Given the description of an element on the screen output the (x, y) to click on. 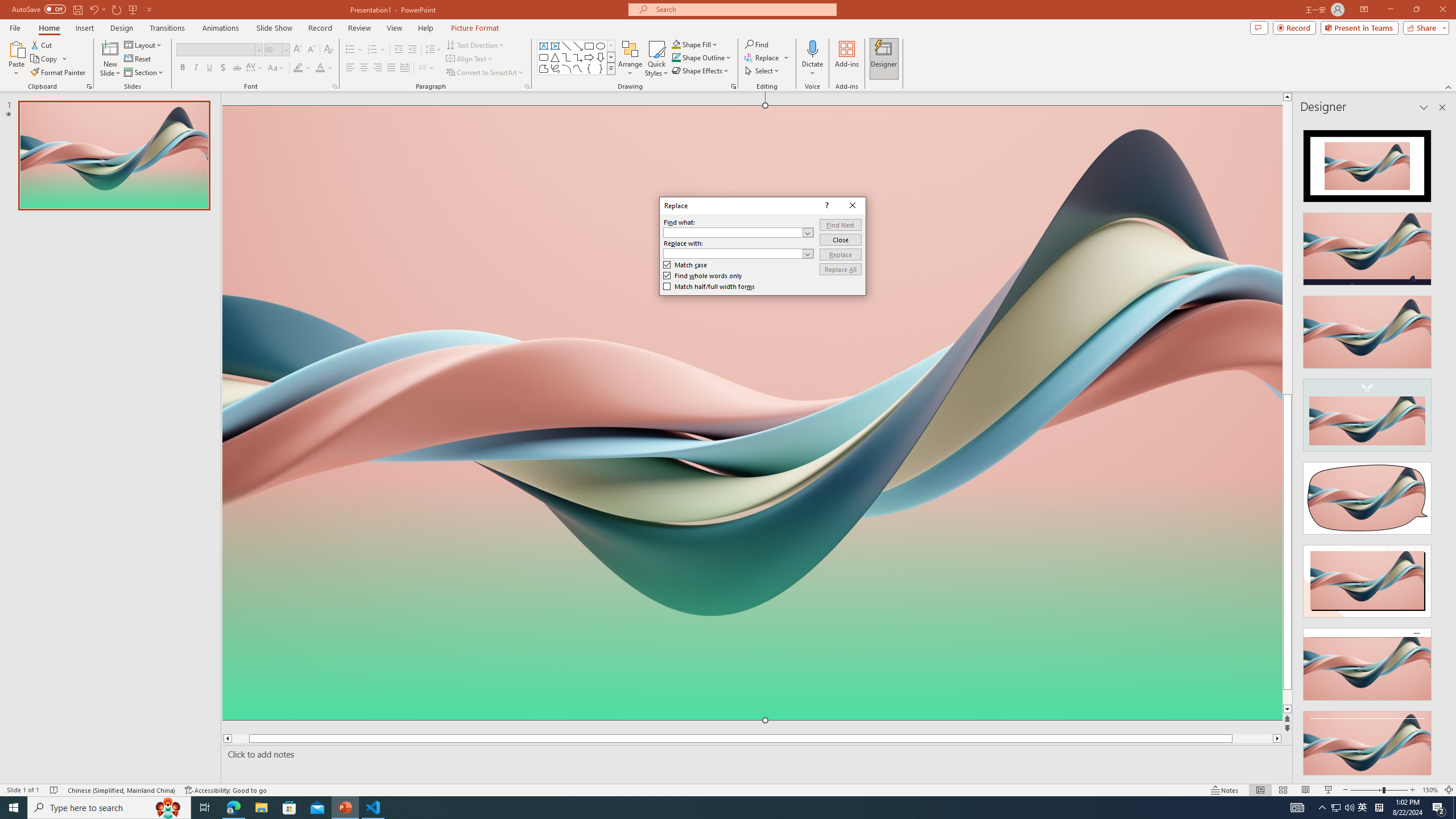
Class: NetUIScrollBar (1441, 447)
